Given the description of an element on the screen output the (x, y) to click on. 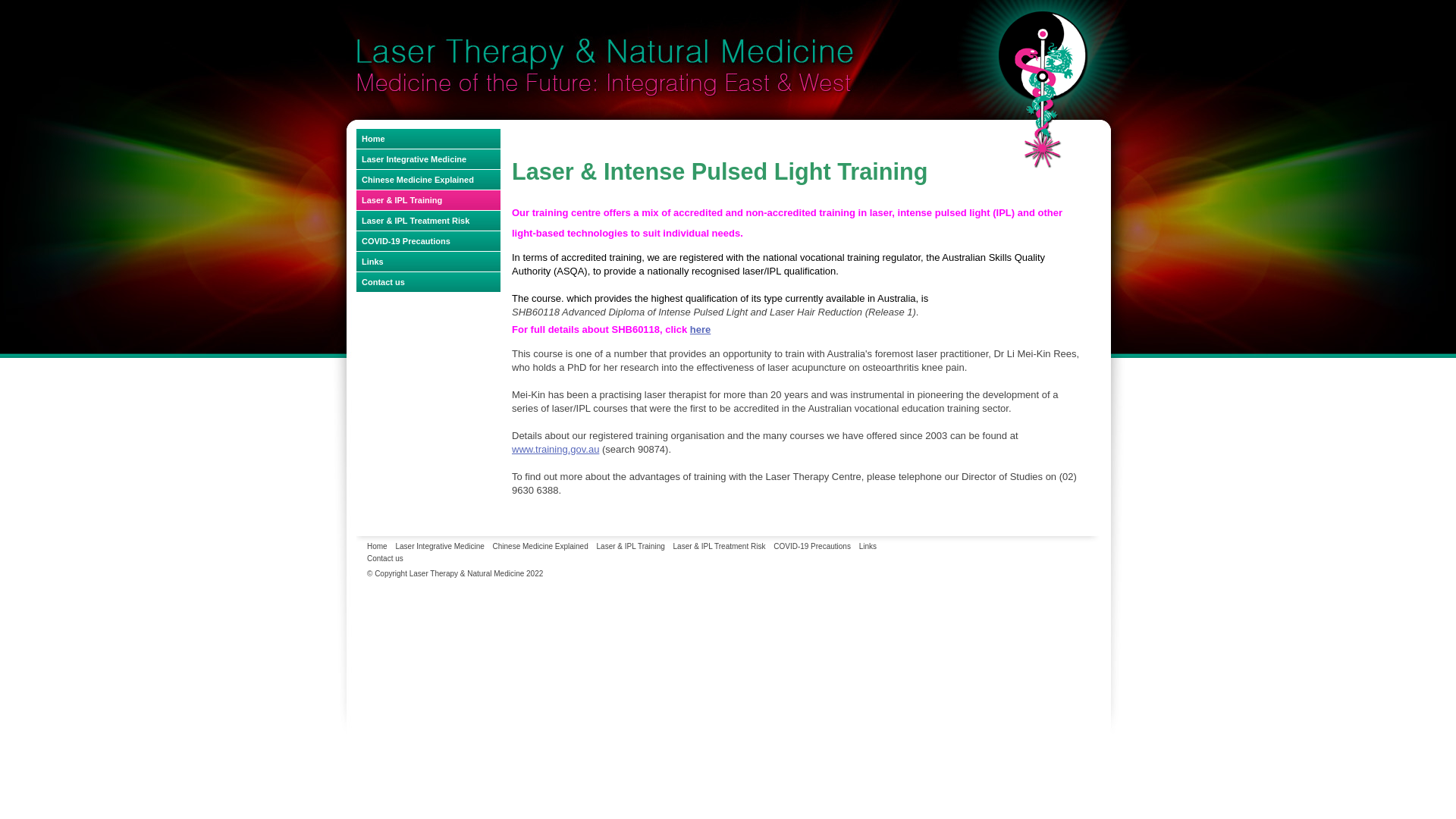
Laser Integrative Medicine Element type: text (428, 159)
Laser Integrative Medicine Element type: text (439, 546)
Laser & IPL Treatment Risk Element type: text (428, 220)
www.training.gov.au Element type: text (555, 449)
Laser & IPL Treatment Risk Element type: text (719, 546)
Laser & IPL Training Element type: text (428, 200)
Laser & IPL Training Element type: text (630, 546)
here Element type: text (700, 329)
Home Element type: text (377, 546)
Links Element type: text (428, 261)
Home Element type: text (428, 138)
Chinese Medicine Explained Element type: text (540, 546)
COVID-19 Precautions Element type: text (811, 546)
Chinese Medicine Explained Element type: text (428, 179)
COVID-19 Precautions Element type: text (428, 241)
Links Element type: text (867, 546)
Contact us Element type: text (385, 558)
Contact us Element type: text (428, 281)
